Given the description of an element on the screen output the (x, y) to click on. 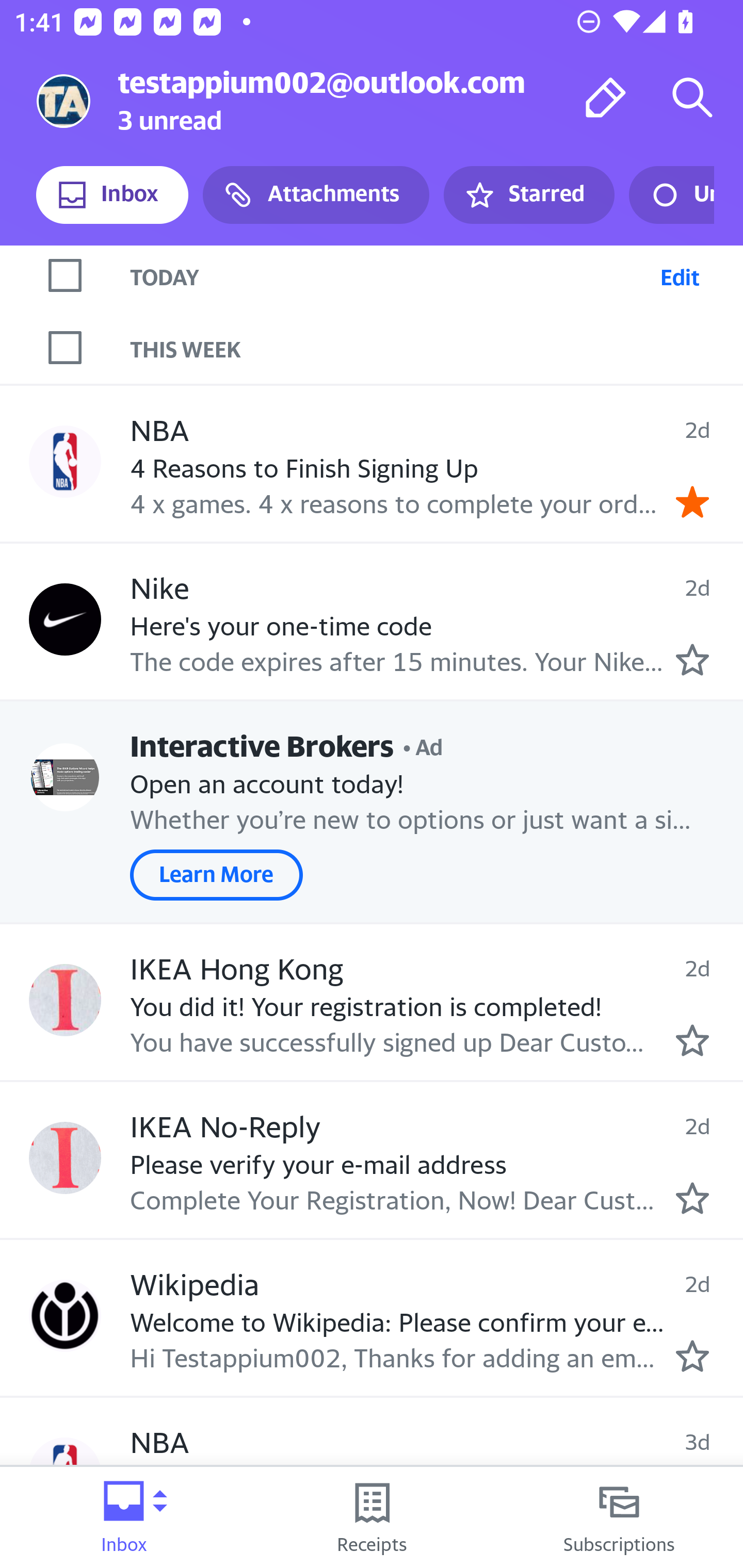
Compose (605, 97)
Search mail (692, 97)
Attachments (315, 195)
Starred (528, 195)
THIS WEEK (436, 347)
Profile
NBA (64, 460)
Remove star. (692, 502)
Profile
Nike (64, 619)
Mark as starred. (692, 659)
Profile
IKEA Hong Kong (64, 1000)
Mark as starred. (692, 1040)
Profile
IKEA No-Reply (64, 1157)
Mark as starred. (692, 1198)
Profile
Wikipedia (64, 1315)
Mark as starred. (692, 1355)
Inbox Folder picker (123, 1517)
Receipts (371, 1517)
Subscriptions (619, 1517)
